Given the description of an element on the screen output the (x, y) to click on. 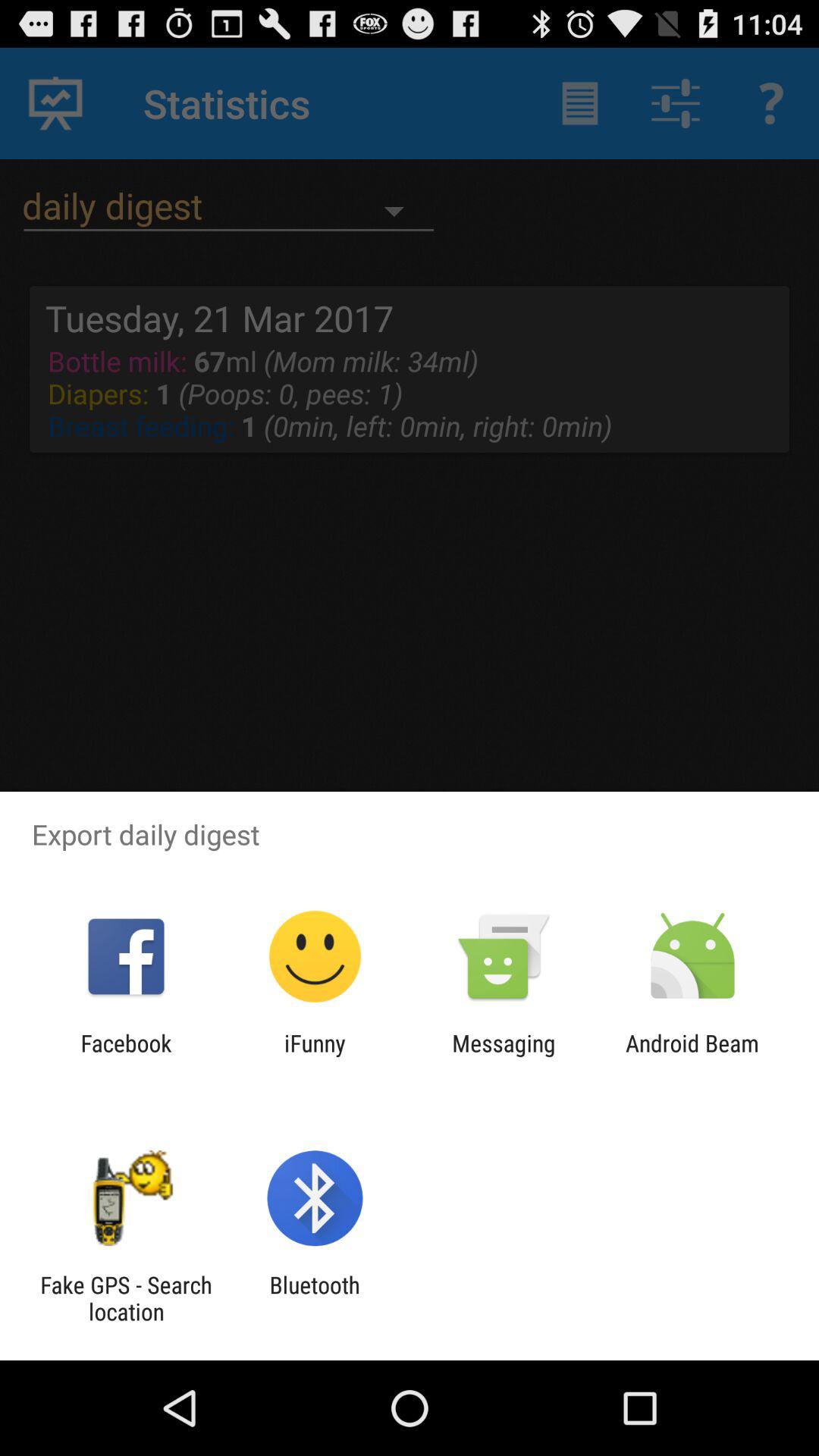
tap the icon at the bottom right corner (692, 1056)
